Given the description of an element on the screen output the (x, y) to click on. 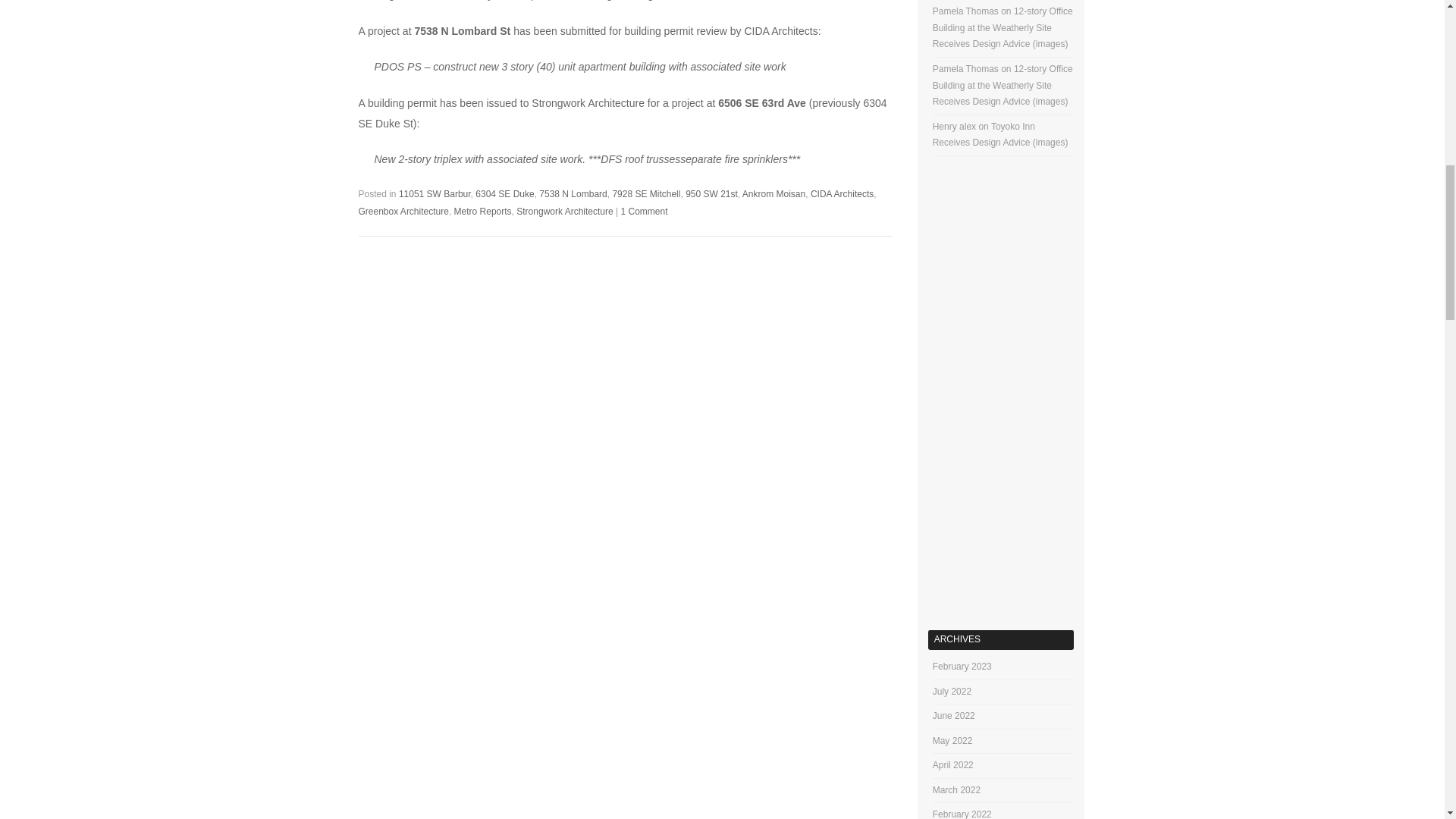
7928 SE Mitchell (645, 194)
Henry alex (954, 126)
1 Comment (643, 211)
June 2022 (954, 715)
6304 SE Duke (505, 194)
Strongwork Architecture (564, 211)
May 2022 (952, 740)
February 2023 (962, 665)
February 2022 (962, 814)
CIDA Architects (841, 194)
Greenbox Architecture (403, 211)
April 2022 (953, 765)
Metro Reports (483, 211)
July 2022 (952, 690)
950 SW 21st (711, 194)
